Given the description of an element on the screen output the (x, y) to click on. 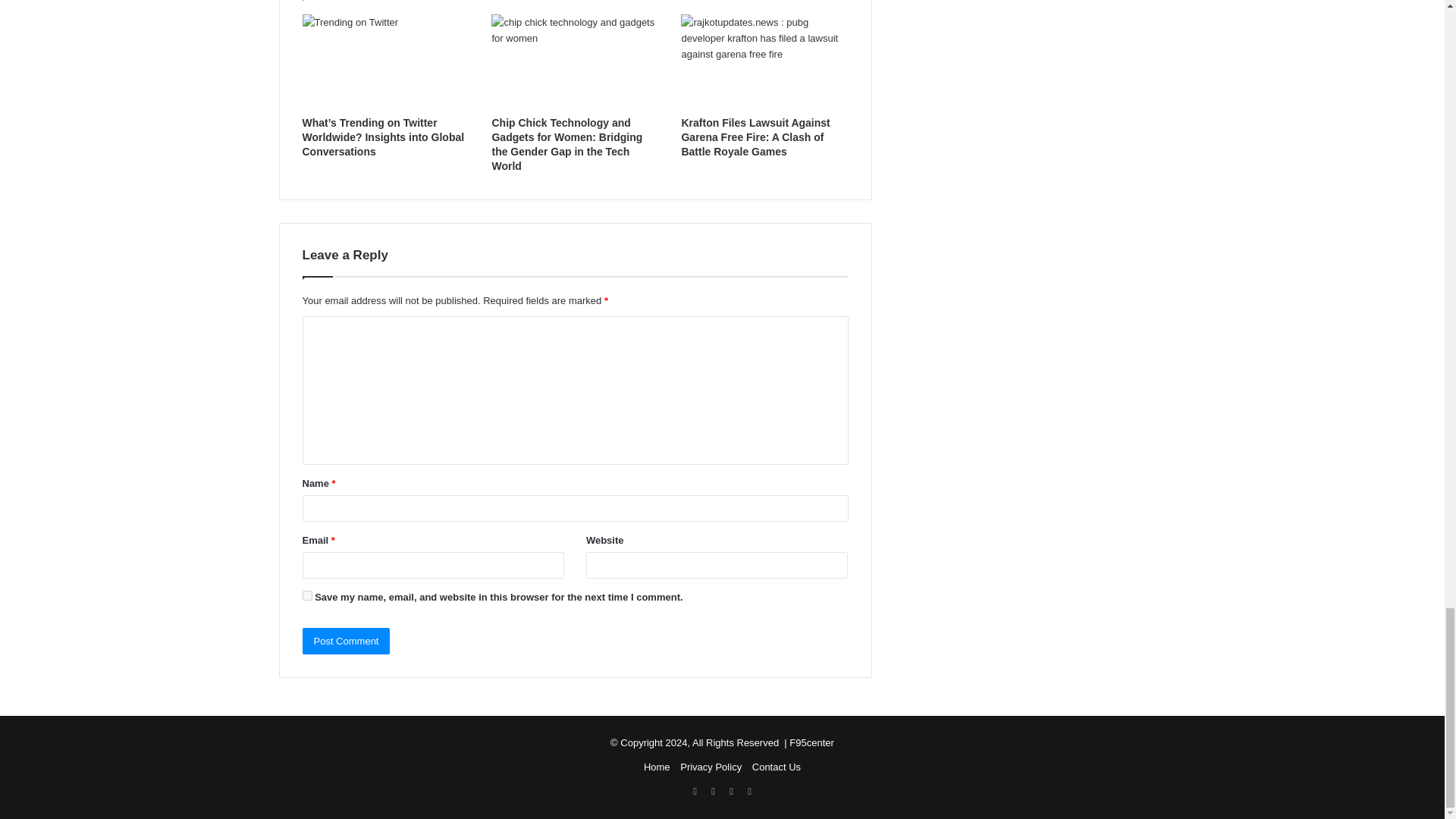
yes (306, 595)
Post Comment (345, 641)
